Given the description of an element on the screen output the (x, y) to click on. 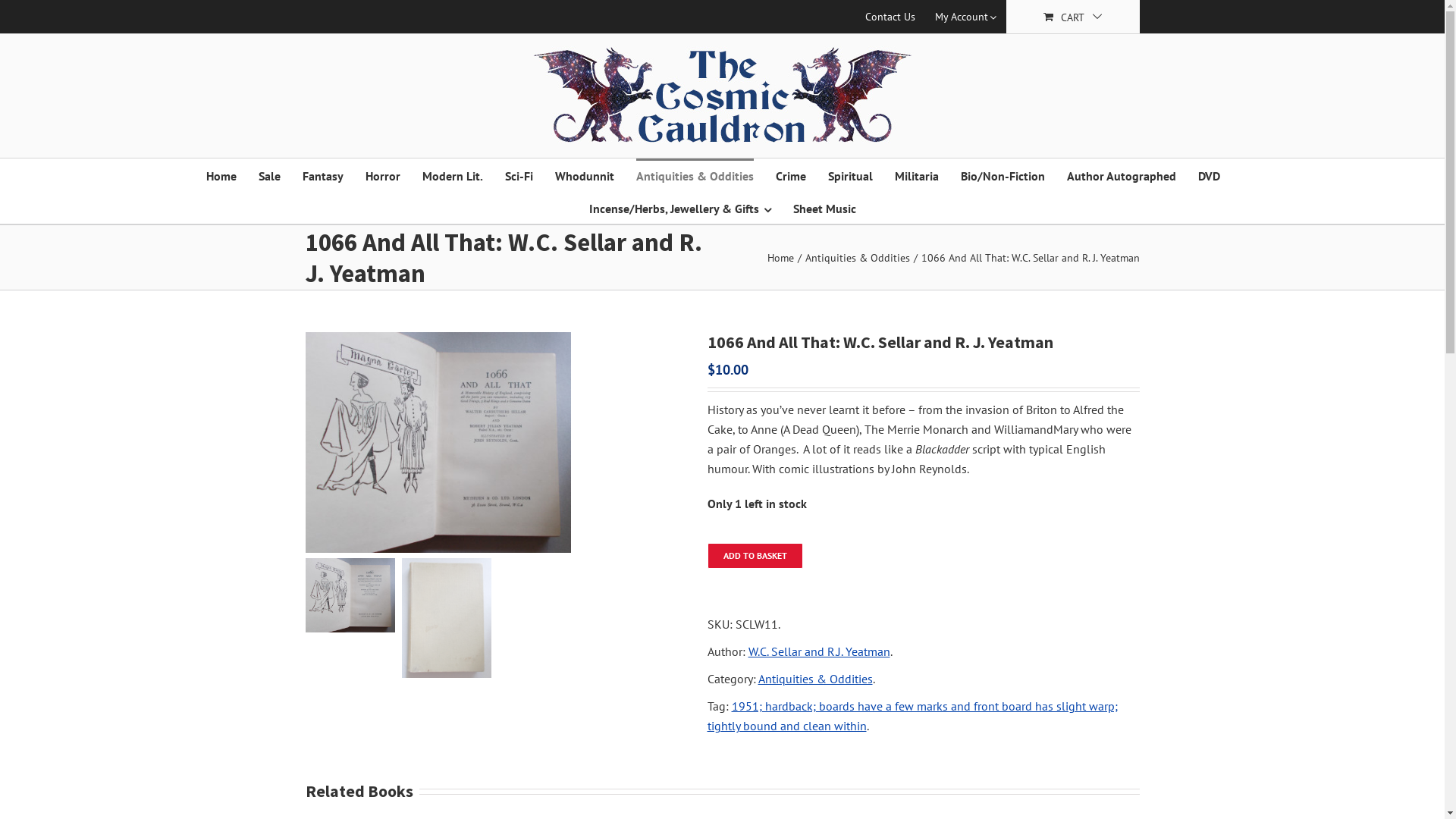
Crime Element type: text (790, 174)
1066 and all that Element type: hover (349, 595)
Incense/Herbs, Jewellery & Gifts Element type: text (679, 207)
Sheet Music Element type: text (824, 207)
Home Element type: text (221, 174)
Home Element type: text (780, 256)
Sci-Fi Element type: text (519, 174)
Modern Lit. Element type: text (451, 174)
W.C. Sellar and R.J. Yeatman Element type: text (818, 650)
Antiquities & Oddities Element type: text (694, 174)
ADD TO BASKET Element type: text (754, 555)
Contact Us Element type: text (890, 16)
Antiquities & Oddities Element type: text (815, 678)
DVD Element type: text (1209, 174)
Sale Element type: text (268, 174)
Horror Element type: text (382, 174)
Antiquities & Oddities Element type: text (857, 256)
1066 and all that Element type: hover (494, 442)
Militaria Element type: text (916, 174)
1066 and all that Element type: hover (437, 442)
CART Element type: text (1072, 16)
Bio/Non-Fiction Element type: text (1002, 174)
Fantasy Element type: text (321, 174)
Whodunnit Element type: text (584, 174)
My Account Element type: text (965, 16)
Log In Element type: text (939, 160)
Author Autographed Element type: text (1120, 174)
Spiritual Element type: text (850, 174)
